Given the description of an element on the screen output the (x, y) to click on. 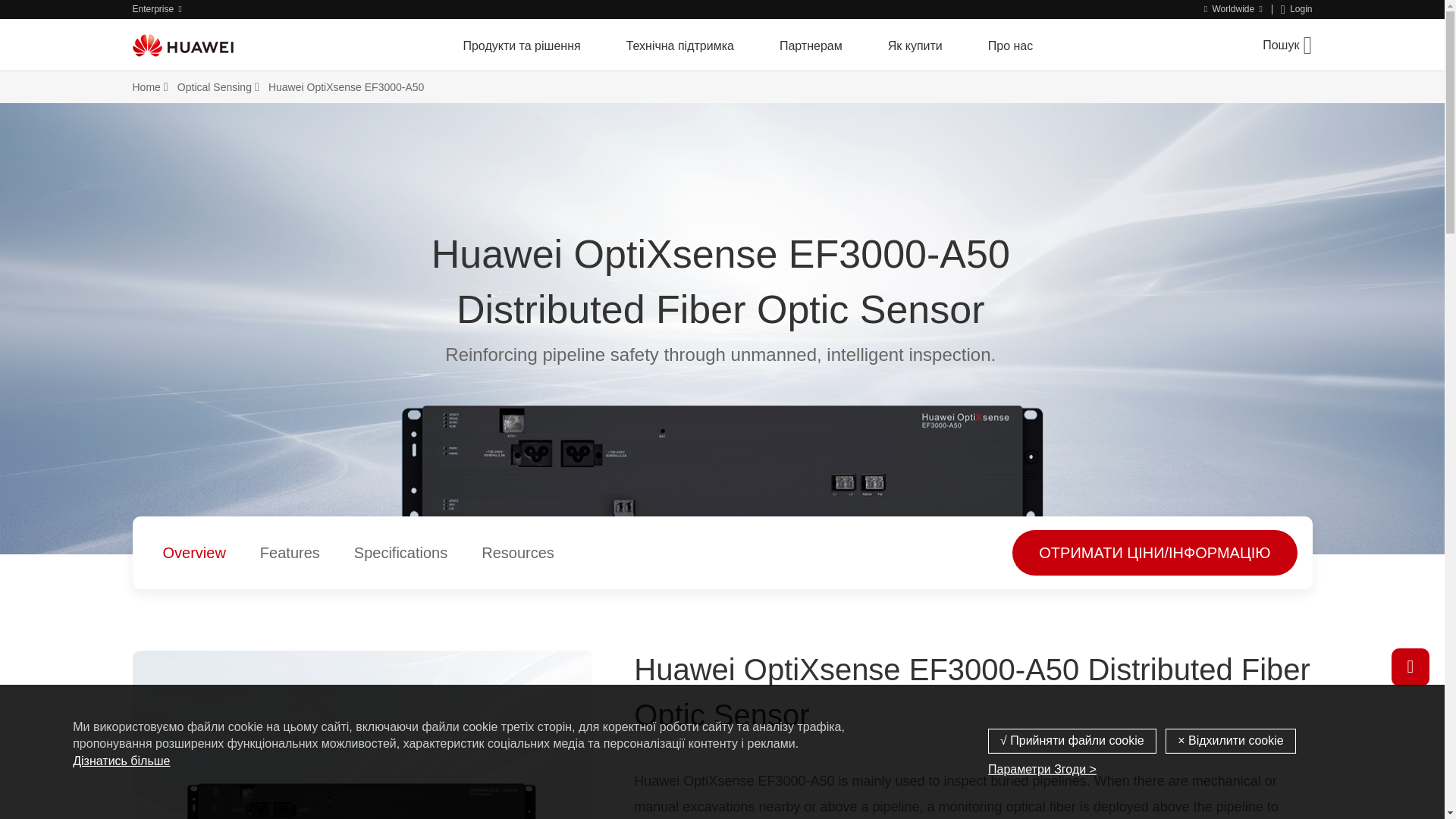
Login (1296, 9)
Huawei (182, 44)
